Given the description of an element on the screen output the (x, y) to click on. 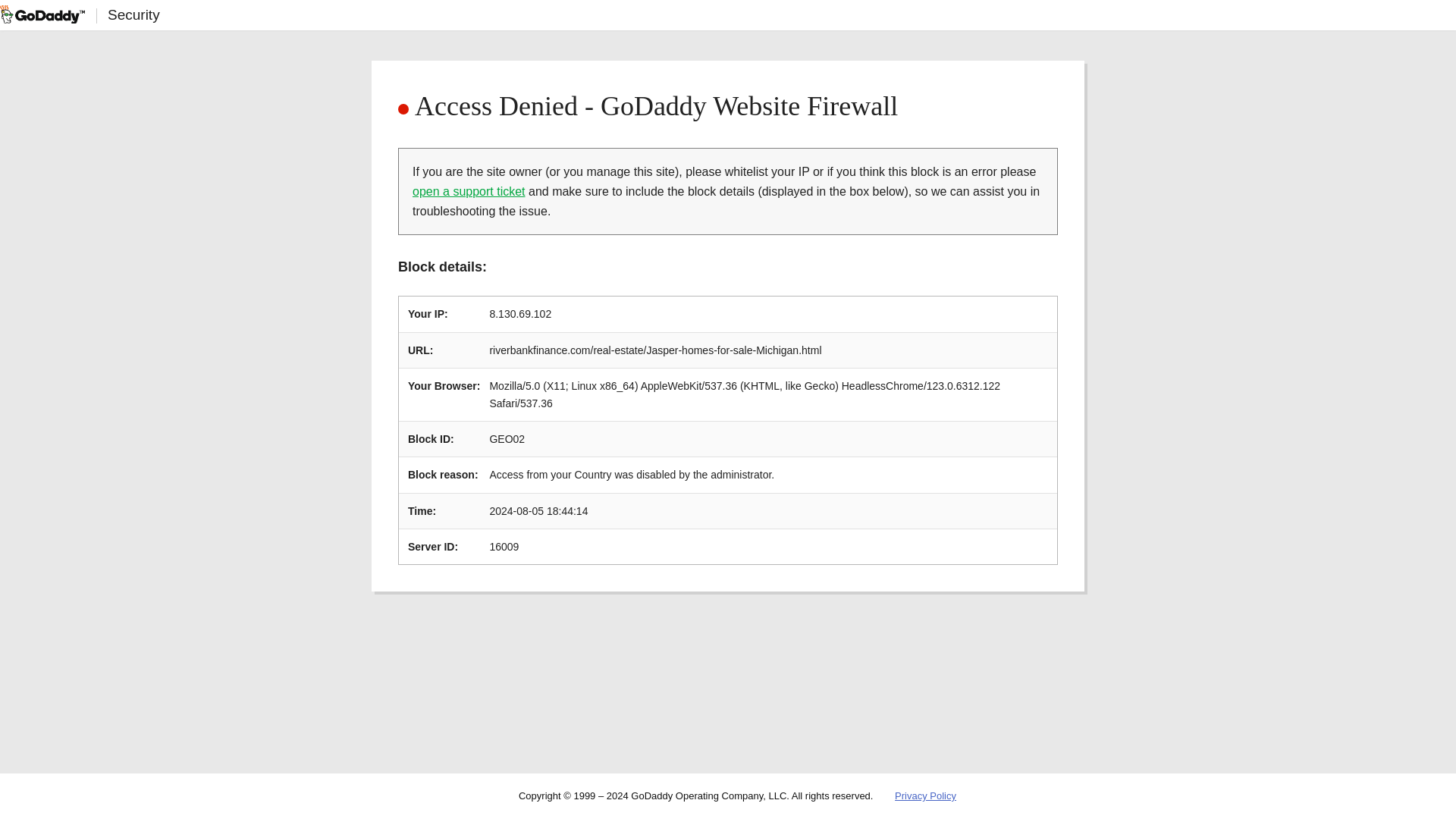
open a support ticket (468, 191)
Privacy Policy (925, 795)
